Given the description of an element on the screen output the (x, y) to click on. 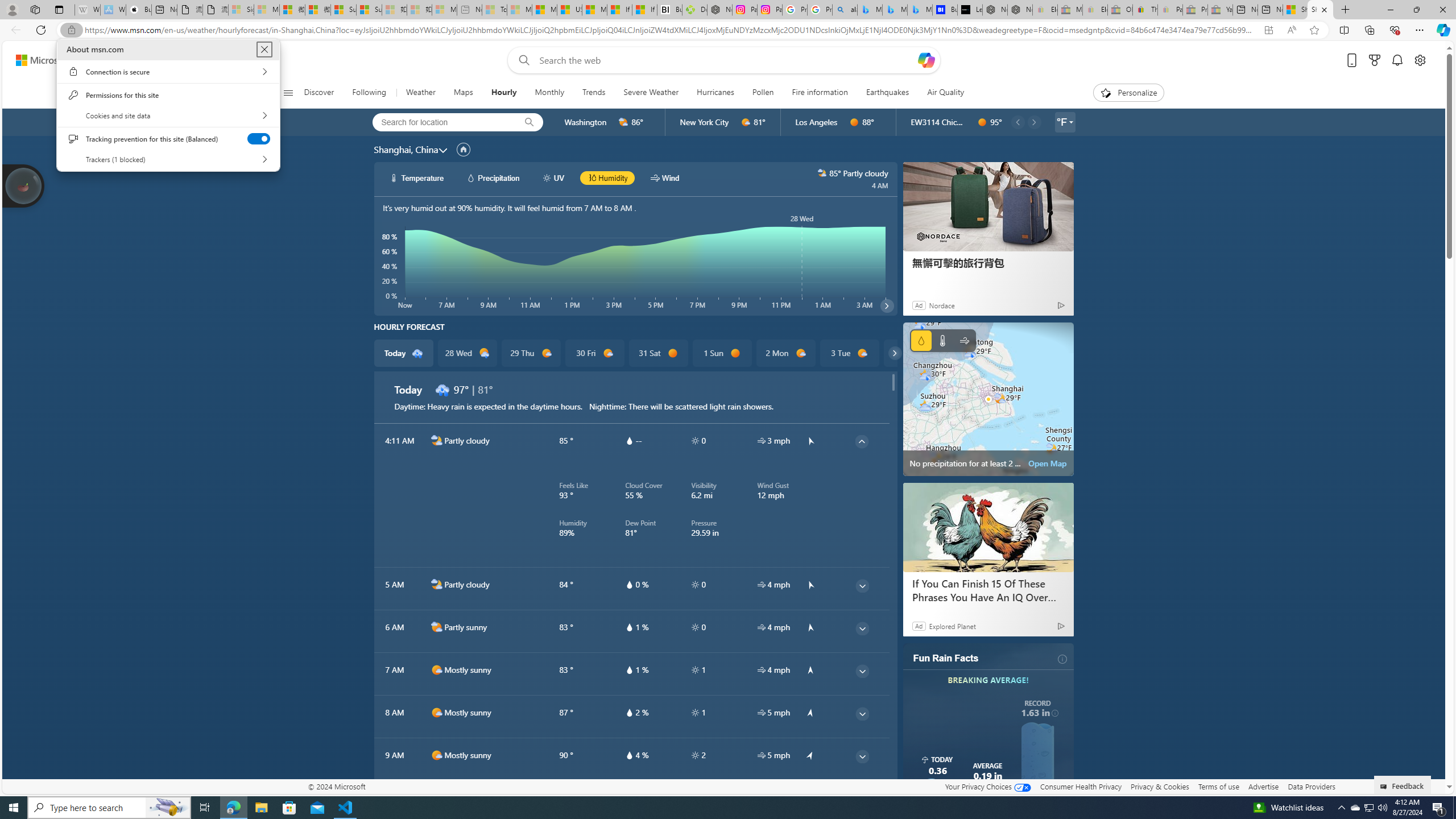
Open Map (1047, 463)
Monthly (549, 92)
Terms of use (1218, 785)
Class: miniMapRadarSVGView-DS-EntryPoint1-1 (988, 398)
Web search (520, 60)
Payments Terms of Use | eBay.com - Sleeping (1170, 9)
Top Stories - MSN - Sleeping (494, 9)
Type here to search (108, 807)
